Given the description of an element on the screen output the (x, y) to click on. 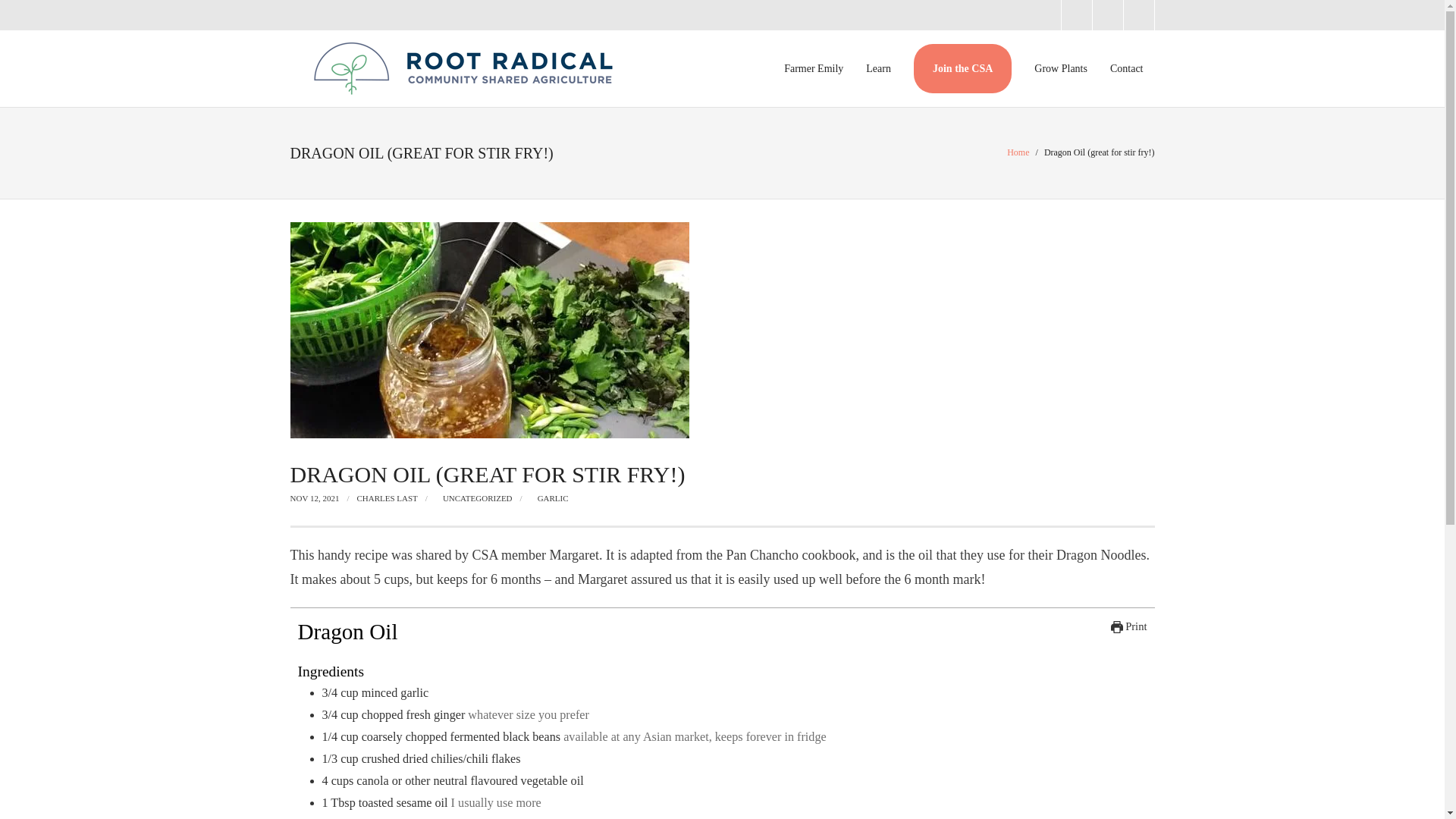
UNCATEGORIZED (477, 497)
Farmer Emily (813, 68)
Print (1128, 625)
Grow Plants (1061, 68)
CHARLES LAST (386, 497)
Join the CSA (962, 68)
GARLIC (553, 497)
Home (1018, 152)
View all posts by Charles Last (386, 497)
NOV 12, 2021 (314, 497)
